Given the description of an element on the screen output the (x, y) to click on. 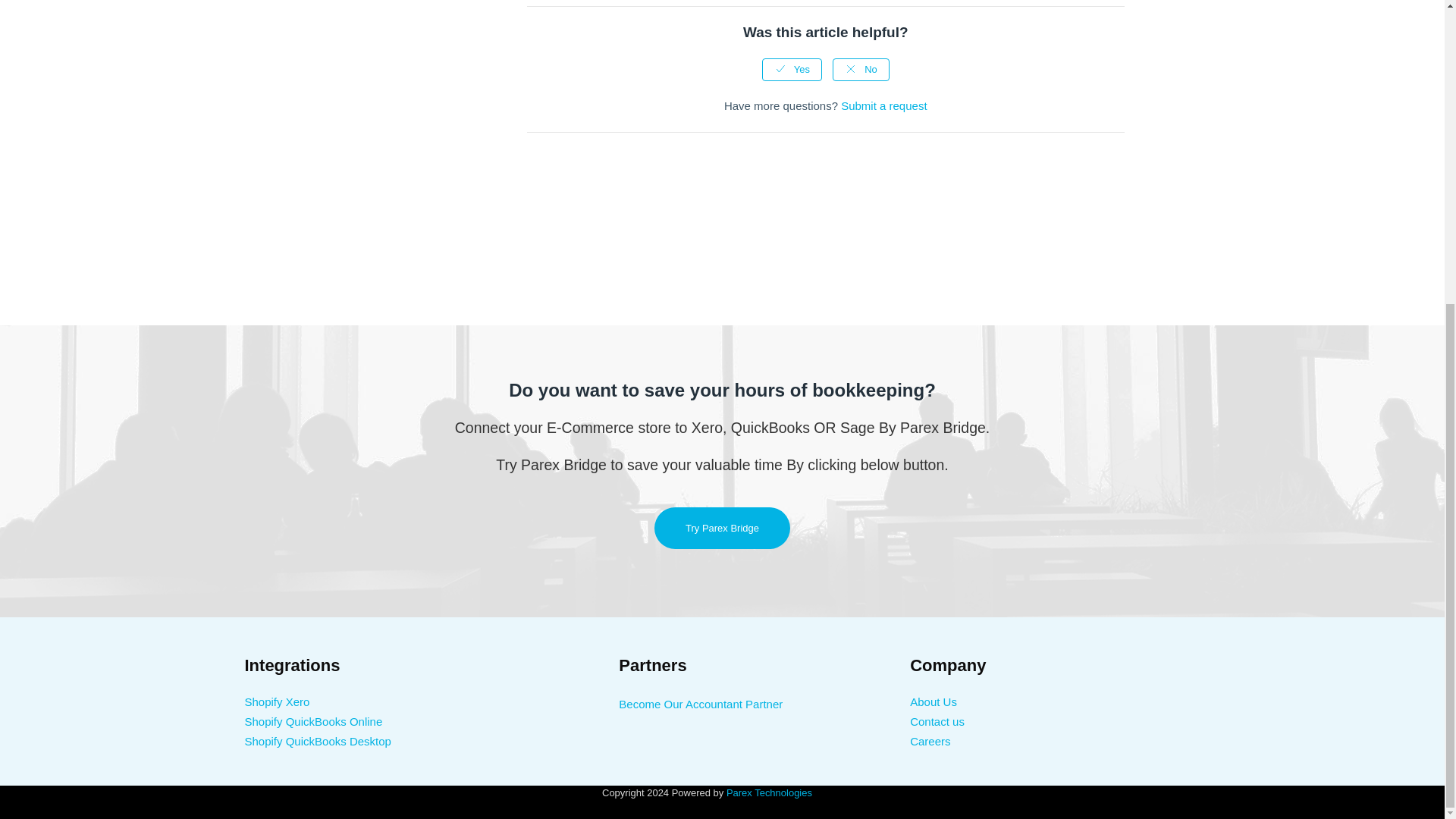
Contact us (936, 721)
No (860, 69)
Shopify QuickBooks Desktop (317, 740)
Shopify Xero (276, 701)
Become Our Accountant Partner (700, 703)
Yes (791, 69)
Parex Technologies (769, 792)
Submit a request (883, 105)
Try Parex Bridge (721, 527)
Careers (930, 740)
Shopify QuickBooks Online (312, 721)
About Us (933, 701)
